Given the description of an element on the screen output the (x, y) to click on. 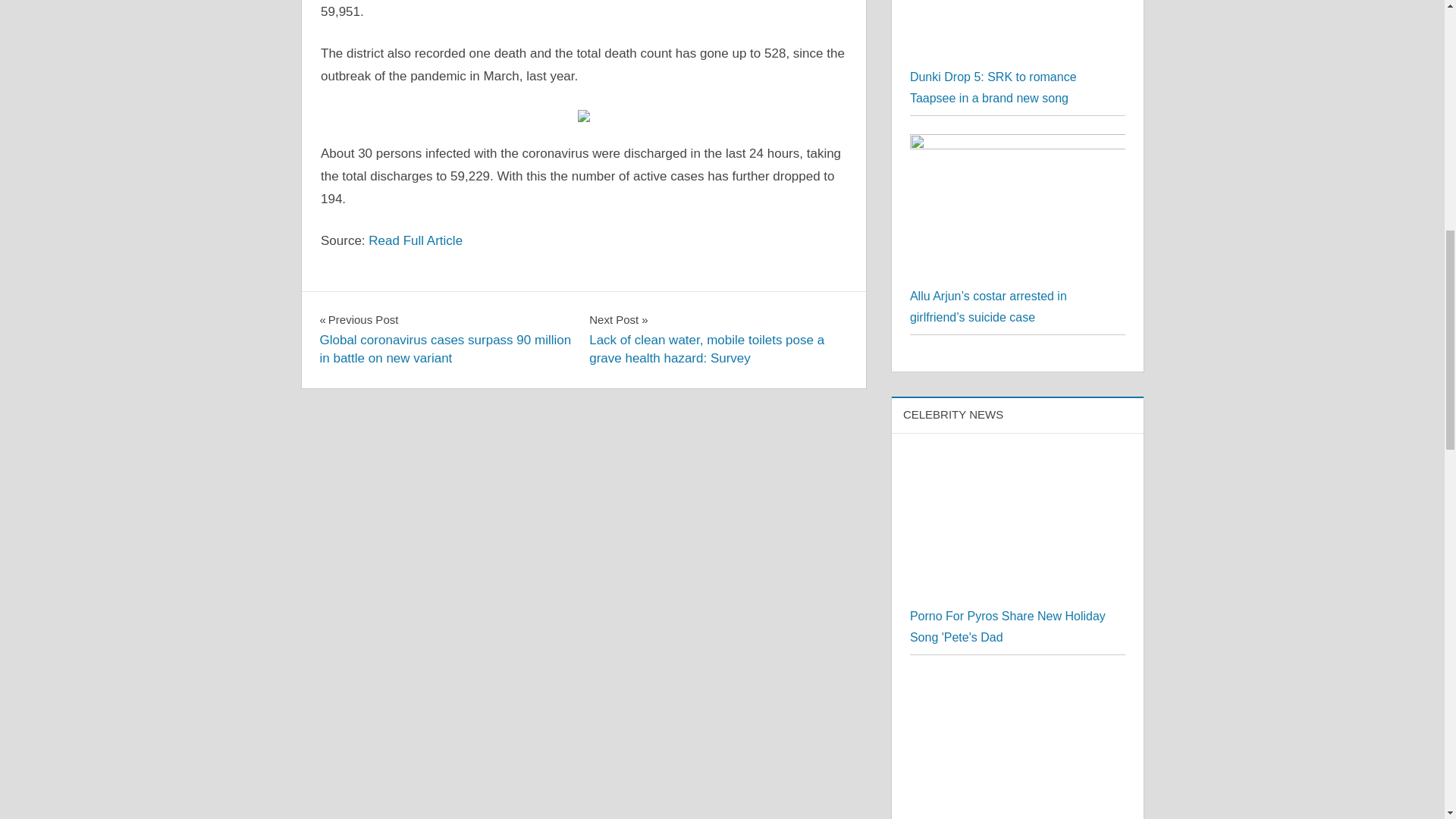
Porno For Pyros Share New Holiday Song 'Pete's Dad (1017, 461)
Read Full Article (415, 240)
10 Healthy Things Diabetics Should Do in 2024 (1017, 746)
INDIA (343, 306)
Dunki Drop 5: SRK to romance Taapsee in a brand new song (993, 87)
10 Healthy Things Diabetics Should Do in 2024 (1017, 683)
Porno For Pyros Share New Holiday Song 'Pete's Dad (1017, 529)
Dunki Drop 5: SRK to romance Taapsee in a brand new song (1017, 33)
Porno For Pyros Share New Holiday Song 'Pete's Dad (1007, 626)
